Given the description of an element on the screen output the (x, y) to click on. 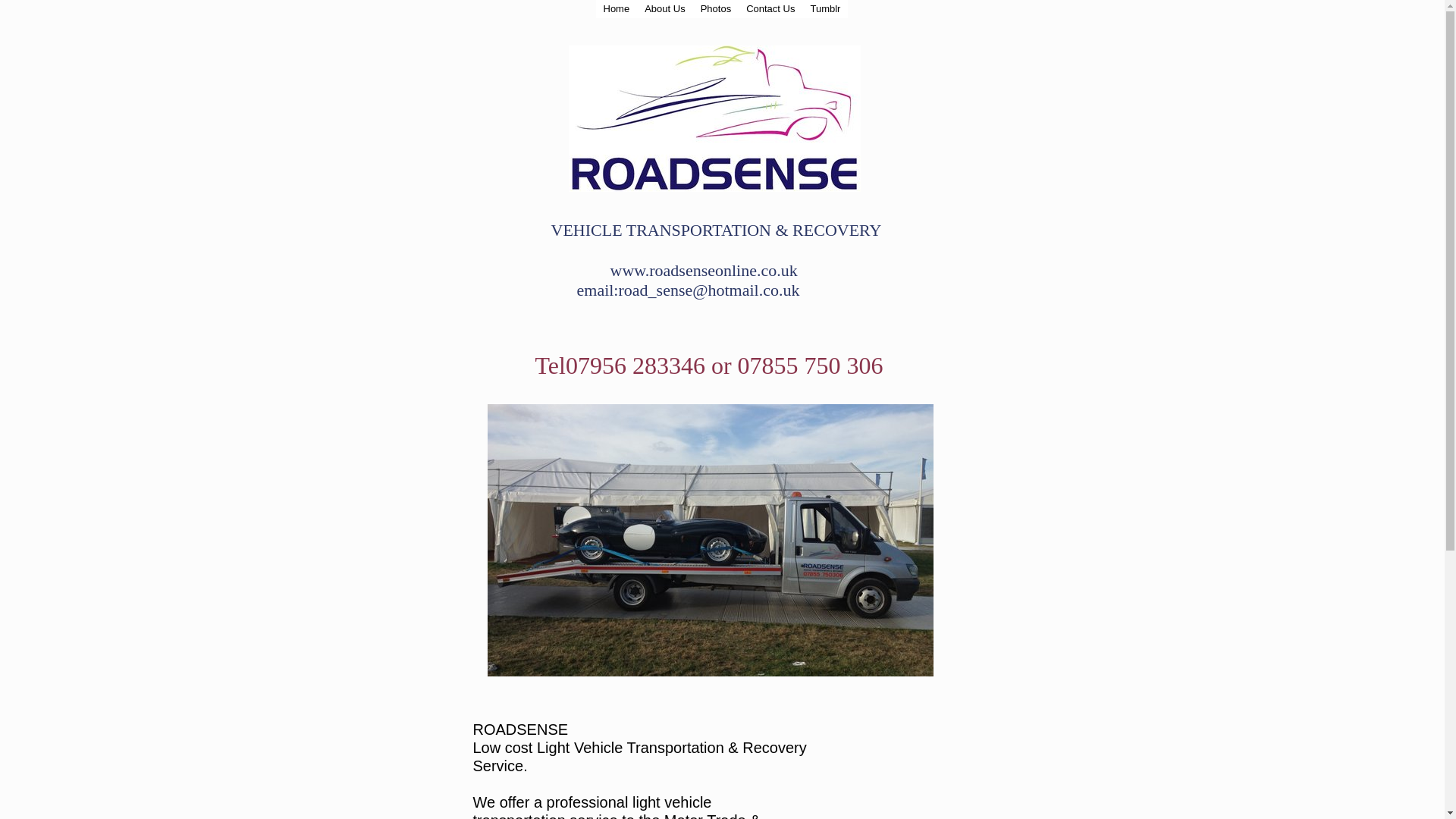
Photos (715, 9)
Home (616, 9)
About Us (665, 9)
Contact Us (770, 9)
Tumblr (824, 9)
